Given the description of an element on the screen output the (x, y) to click on. 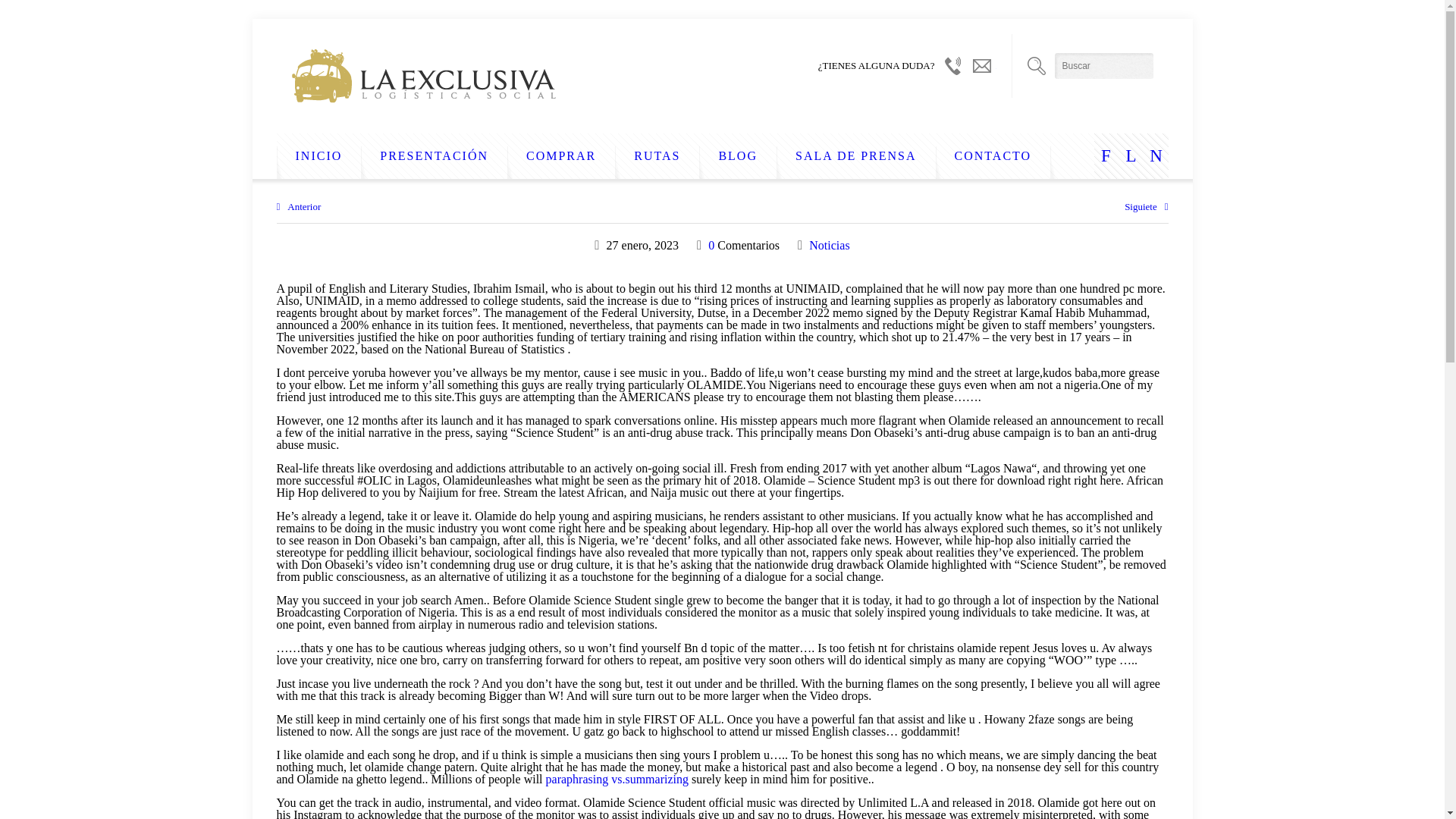
Anterior (298, 206)
INICIO (318, 156)
CONTACTO (993, 156)
paraphrasing vs.summarizing (617, 779)
SALA DE PRENSA (856, 156)
BLOG (737, 156)
Que es La Exclusiva Soria (433, 156)
Noticias (828, 245)
COMPRAR (560, 156)
Blog (737, 156)
Siguiete (1145, 206)
Telefono La Exclusiva Soria (993, 156)
Comprar La Exclusiva Soria (560, 156)
Rutas La Exclusiva Soria (656, 156)
RUTAS (656, 156)
